Given the description of an element on the screen output the (x, y) to click on. 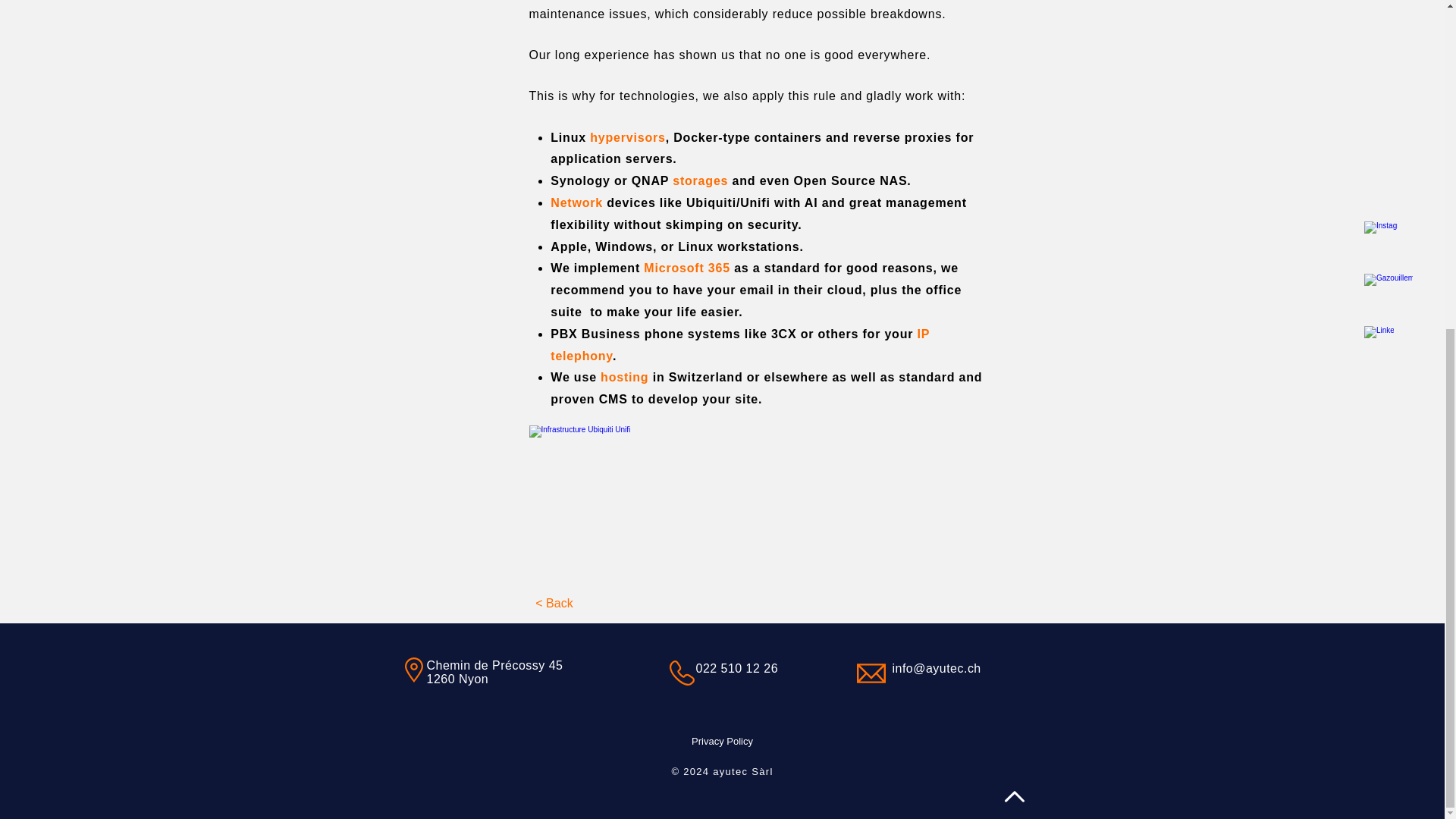
022 510 12 26 (736, 667)
Privacy Policy (721, 740)
